Given the description of an element on the screen output the (x, y) to click on. 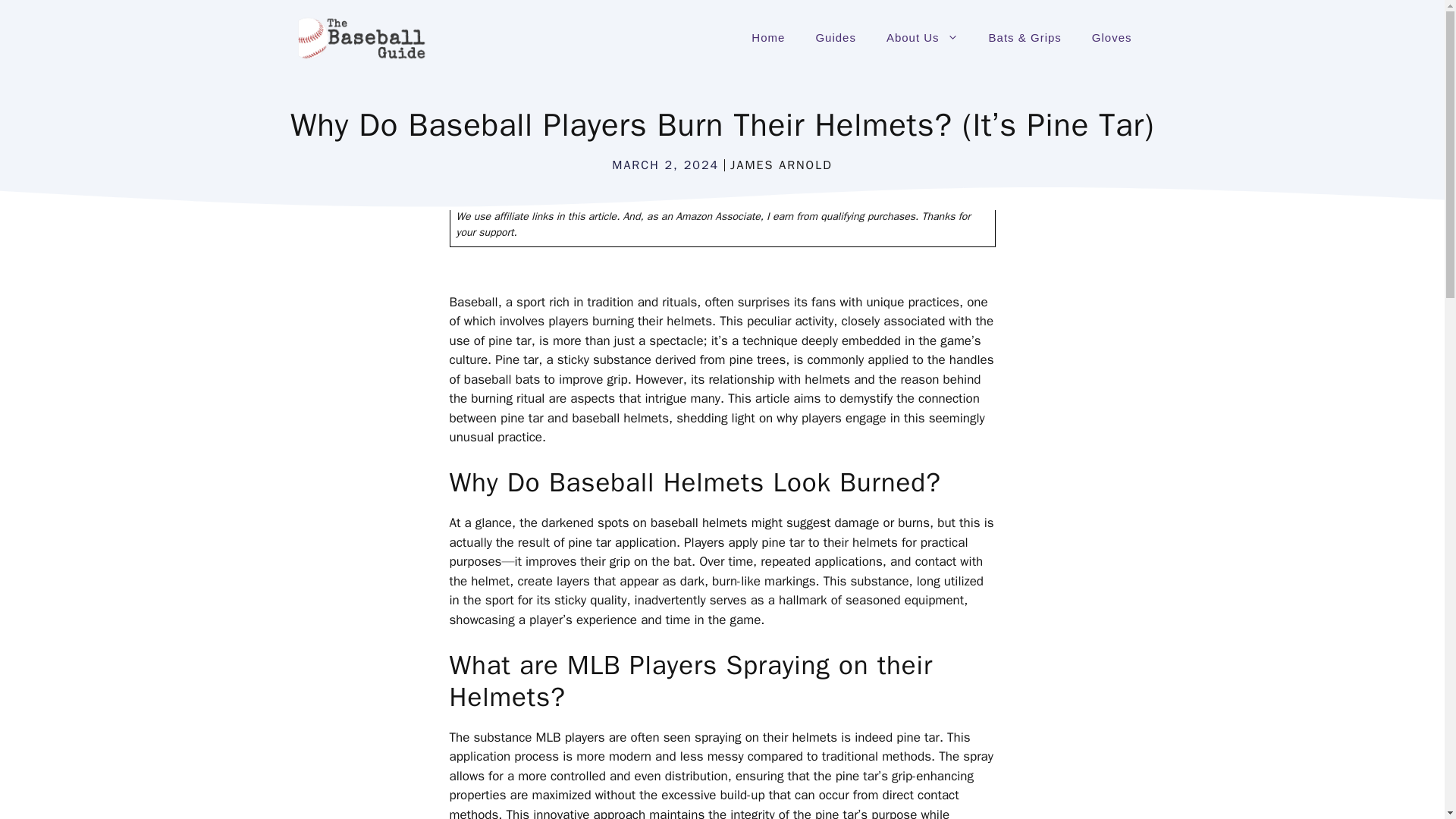
JAMES ARNOLD (781, 165)
Guides (834, 37)
About Us (922, 37)
Gloves (1112, 37)
Home (767, 37)
